Given the description of an element on the screen output the (x, y) to click on. 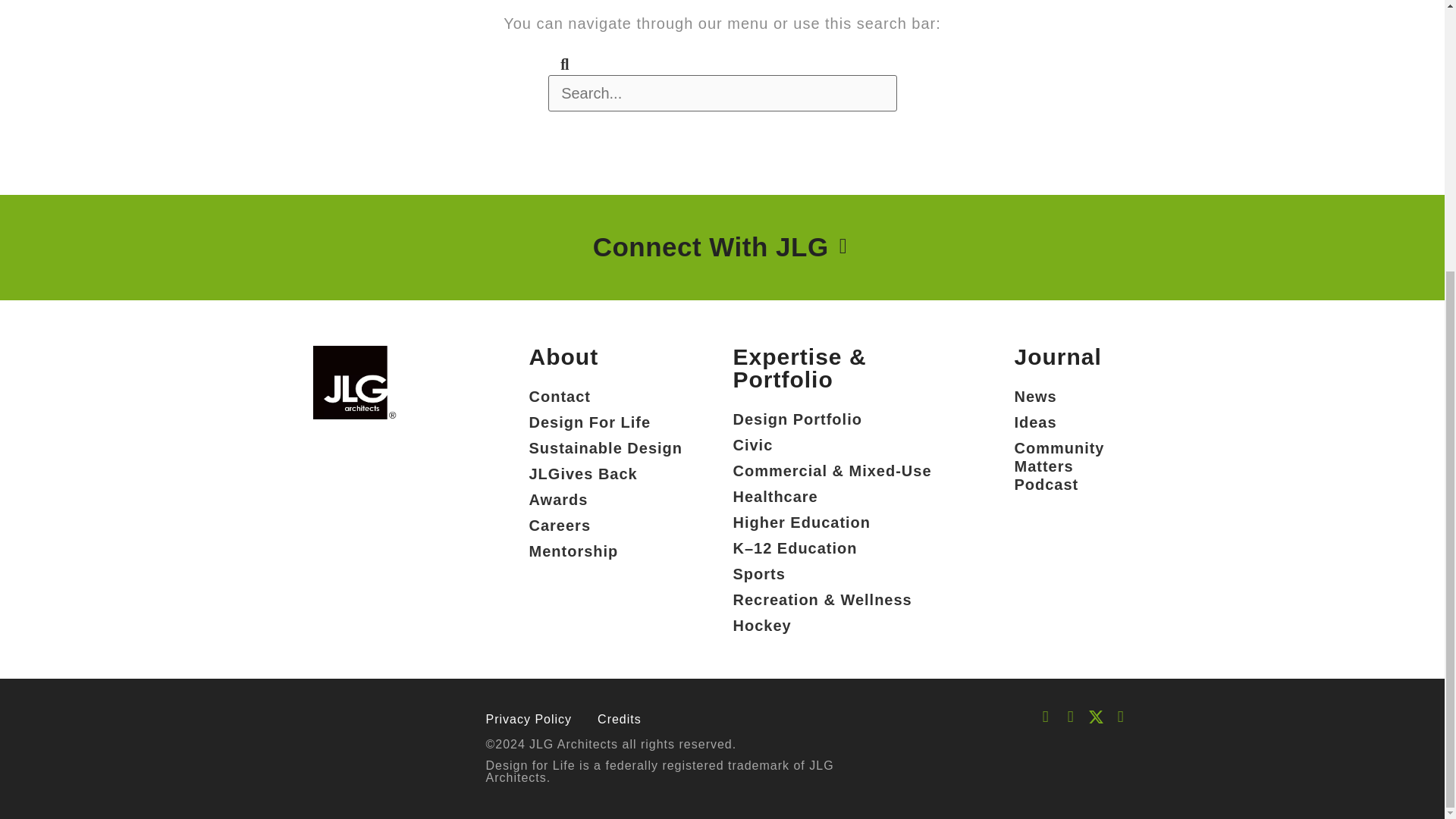
Connect With JLG (714, 247)
News (1072, 396)
Careers (605, 525)
JLGives Back (605, 473)
Sustainable Design (605, 447)
About (563, 356)
Contact (605, 396)
Design For Life (605, 421)
Mentorship (605, 551)
Sports (831, 574)
